Given the description of an element on the screen output the (x, y) to click on. 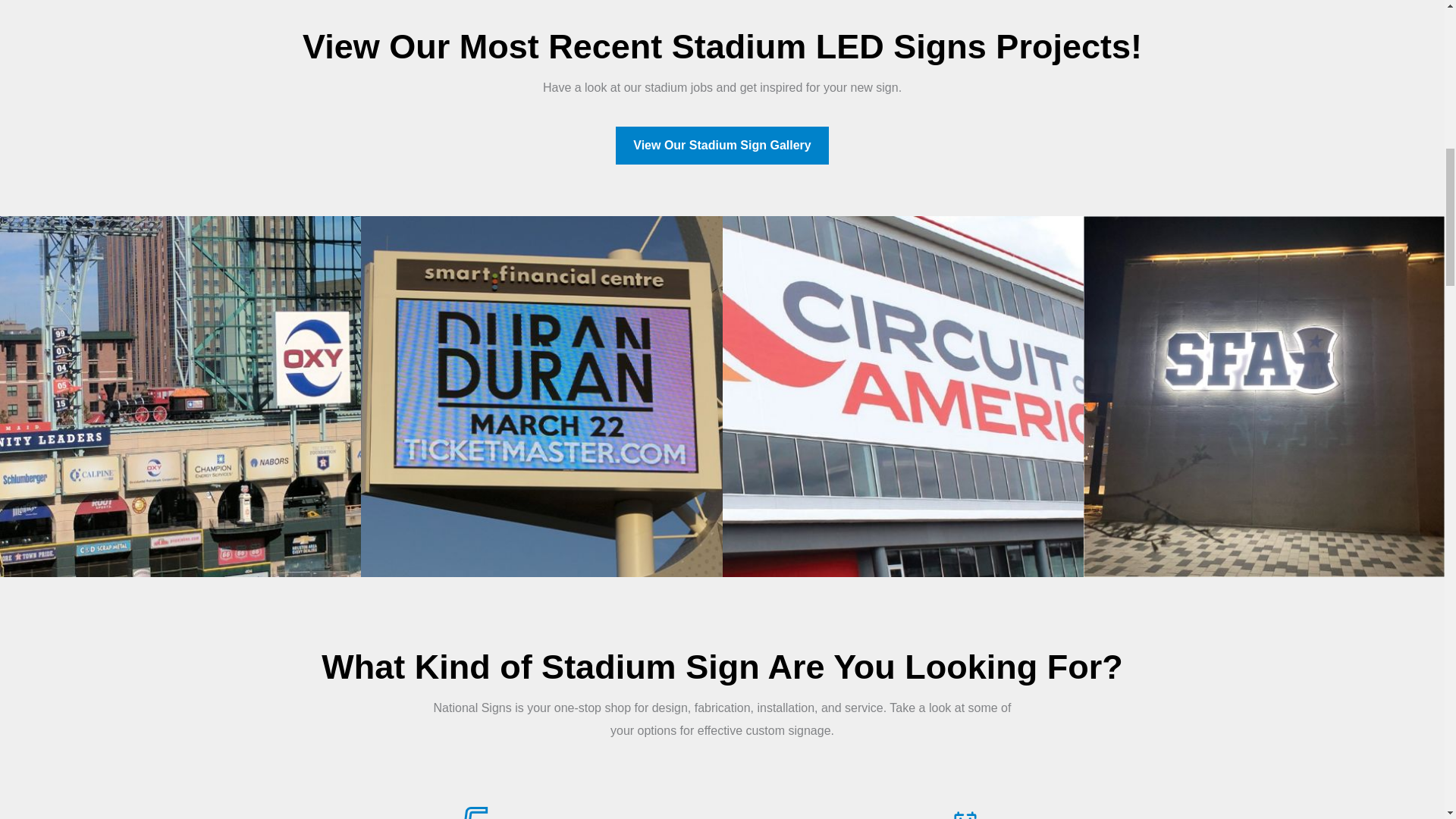
Stadium Signs 2 (180, 396)
Stadium Signs 4 (902, 396)
Stadium Signs 3 (541, 396)
